Given the description of an element on the screen output the (x, y) to click on. 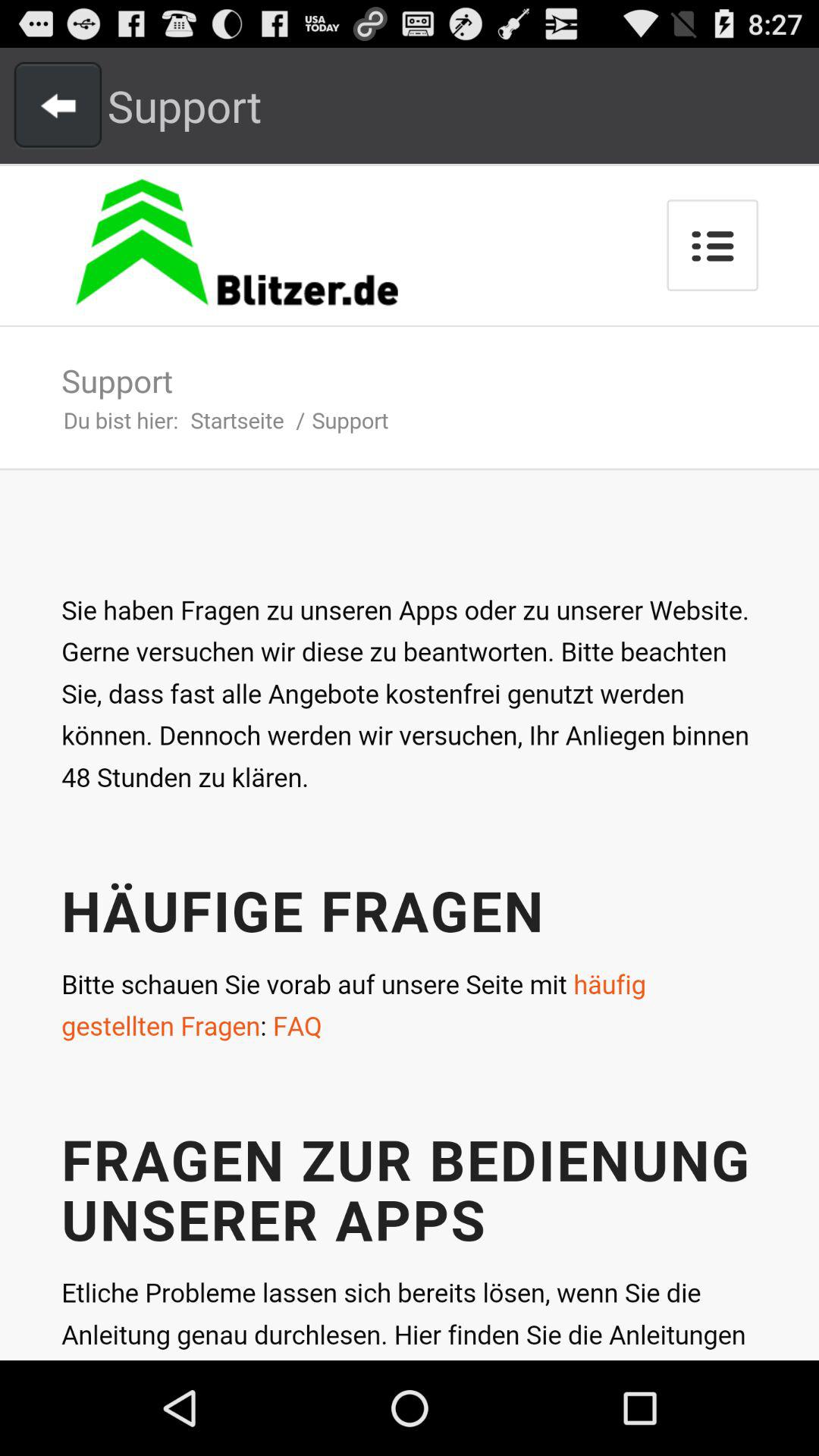
go back (57, 105)
